Given the description of an element on the screen output the (x, y) to click on. 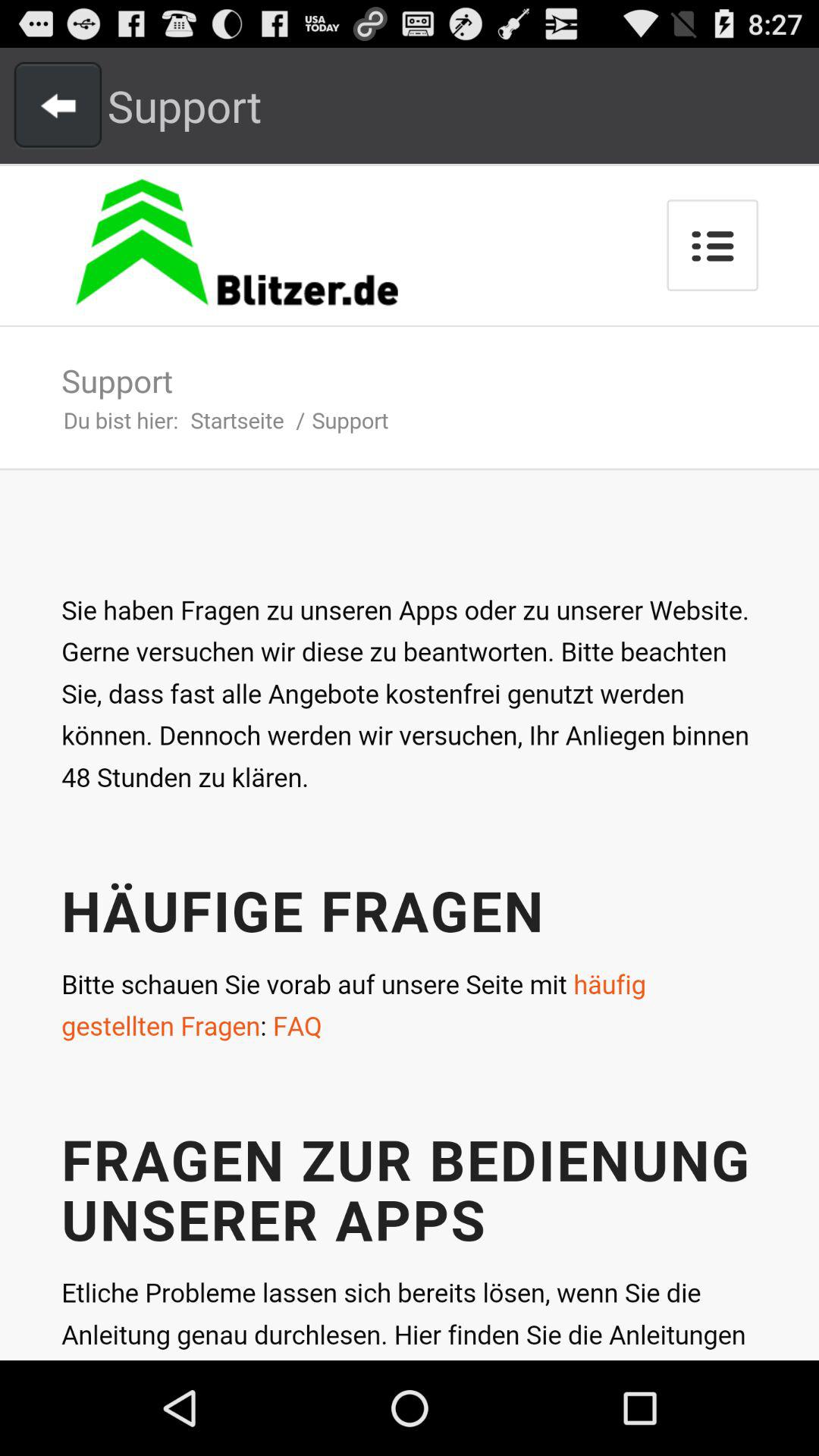
go back (57, 105)
